Given the description of an element on the screen output the (x, y) to click on. 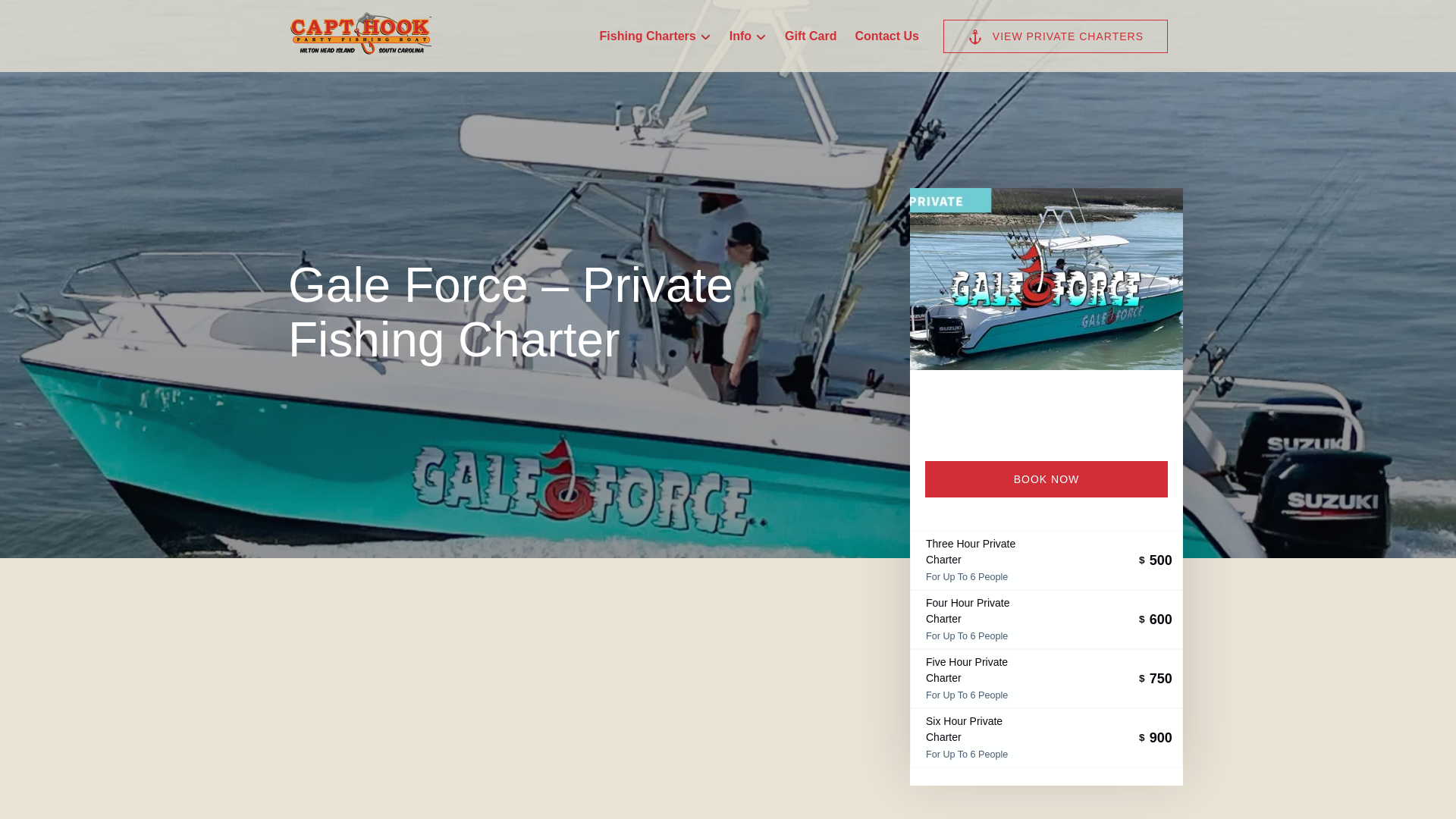
ANCHOR (975, 37)
Fishing Charters (655, 35)
Gift Card (810, 35)
Info (748, 35)
Open Info Menu (752, 32)
ANCHOR VIEW PRIVATE CHARTERS (1055, 36)
Skip to content (47, 16)
BOOK NOW (1045, 479)
Skip to primary navigation (77, 16)
Skip to footer (42, 16)
